Given the description of an element on the screen output the (x, y) to click on. 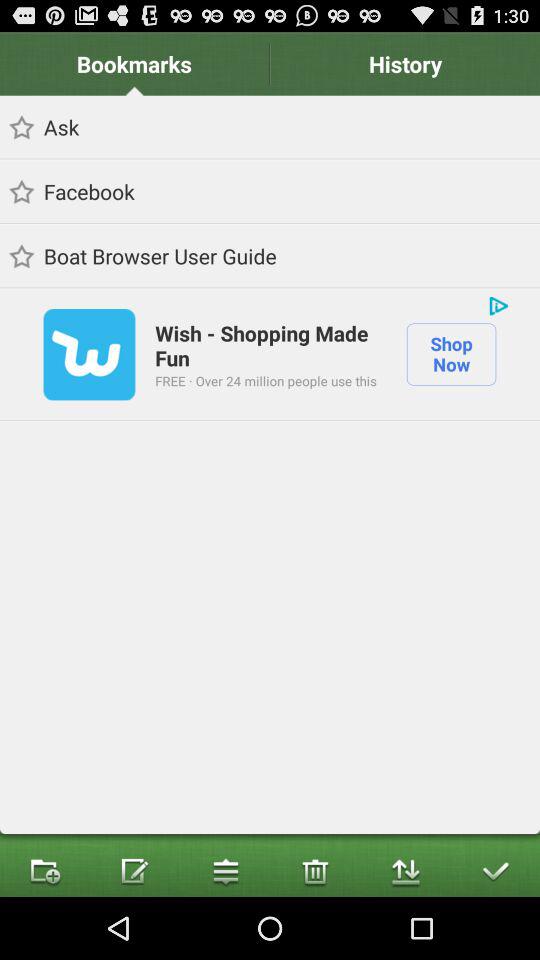
launch app next to the shop now item (265, 380)
